Given the description of an element on the screen output the (x, y) to click on. 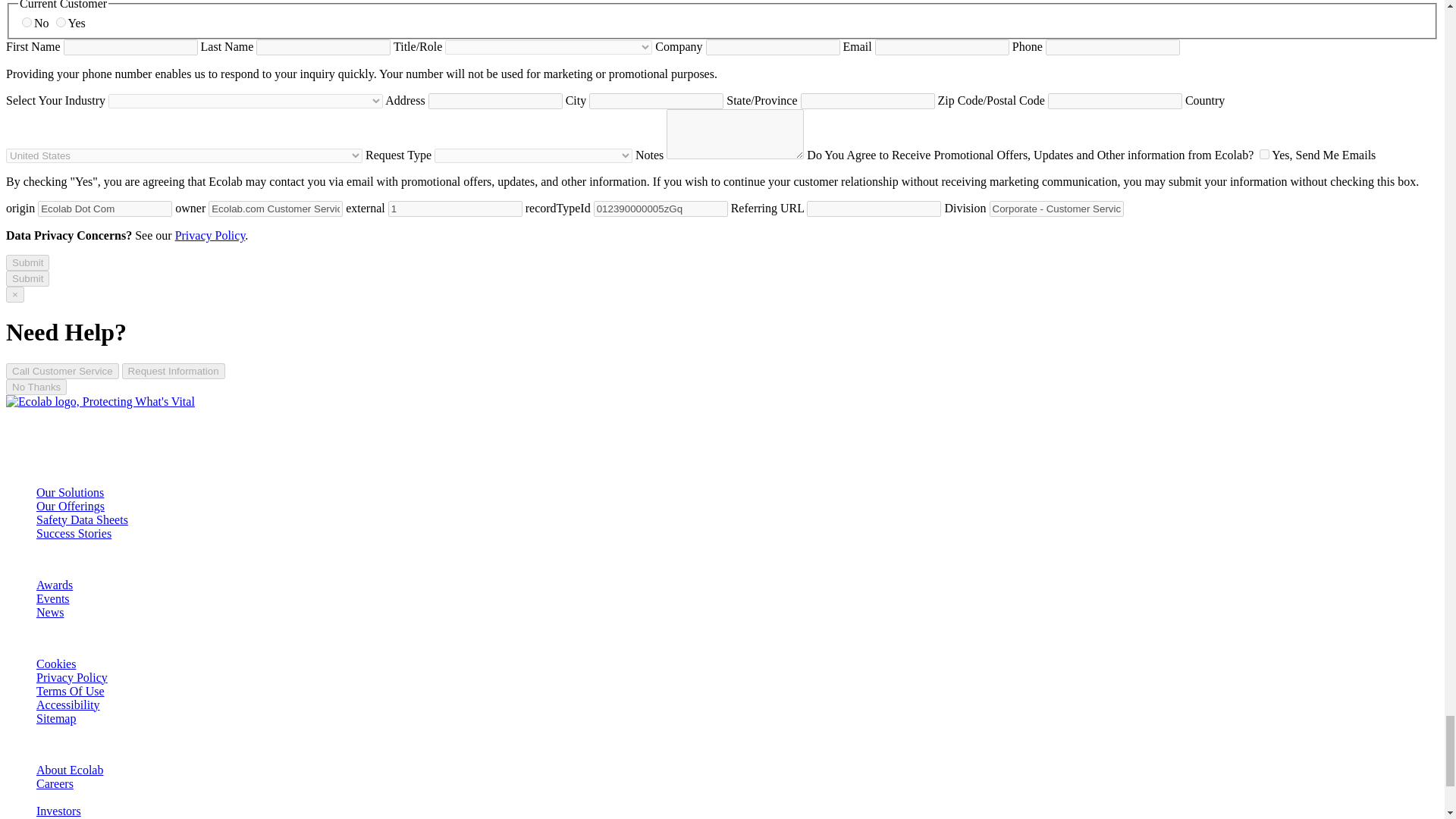
1 (60, 22)
Ecolab.com Customer Service (275, 208)
Submit (27, 278)
1 (1264, 153)
Corporate - Customer Service US (1057, 208)
1 (455, 208)
0 (26, 22)
Ecolab Dot Com (104, 208)
Submit (27, 262)
012390000005zGq (661, 208)
